Given the description of an element on the screen output the (x, y) to click on. 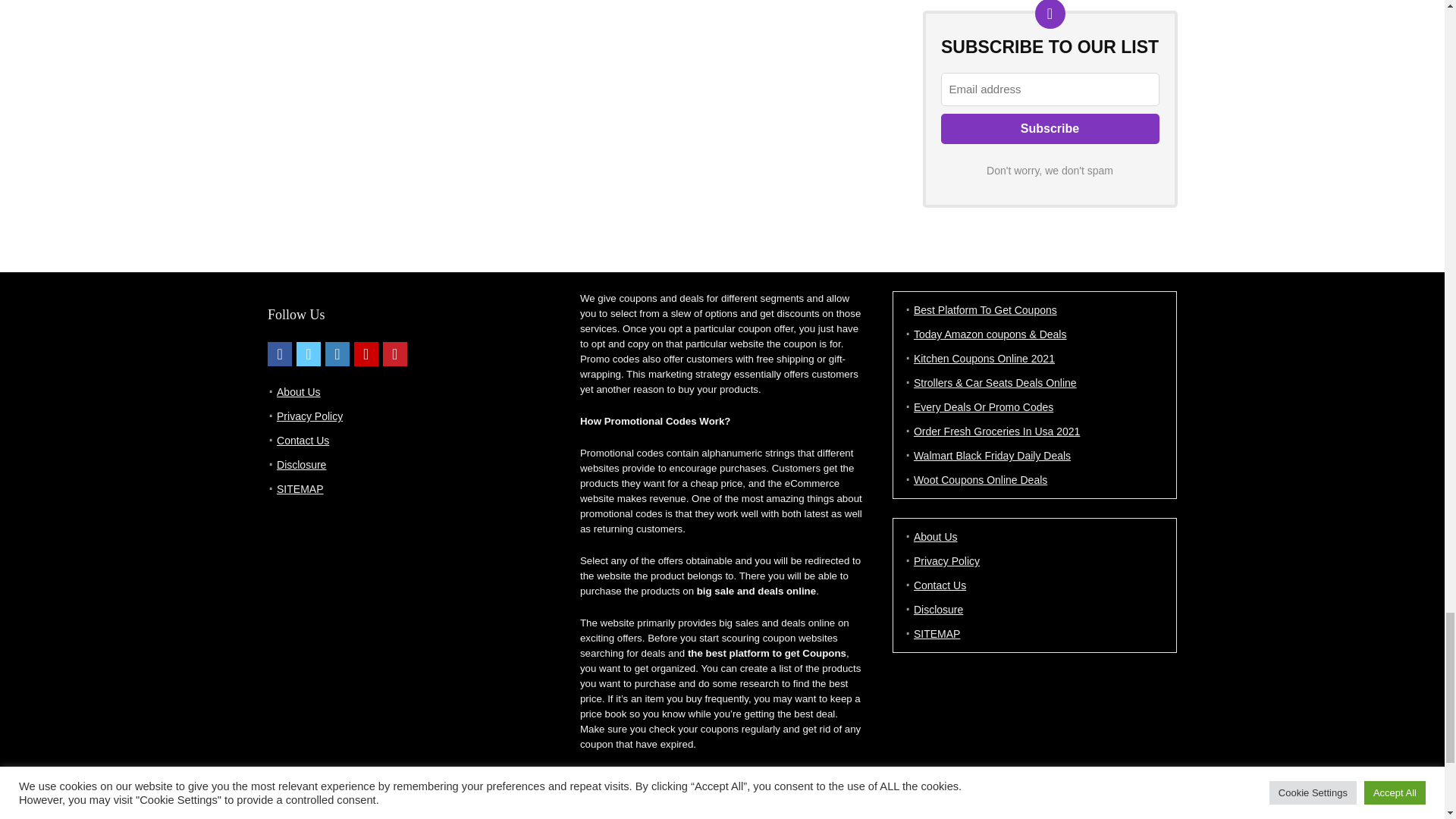
Subscribe (1049, 128)
